Given the description of an element on the screen output the (x, y) to click on. 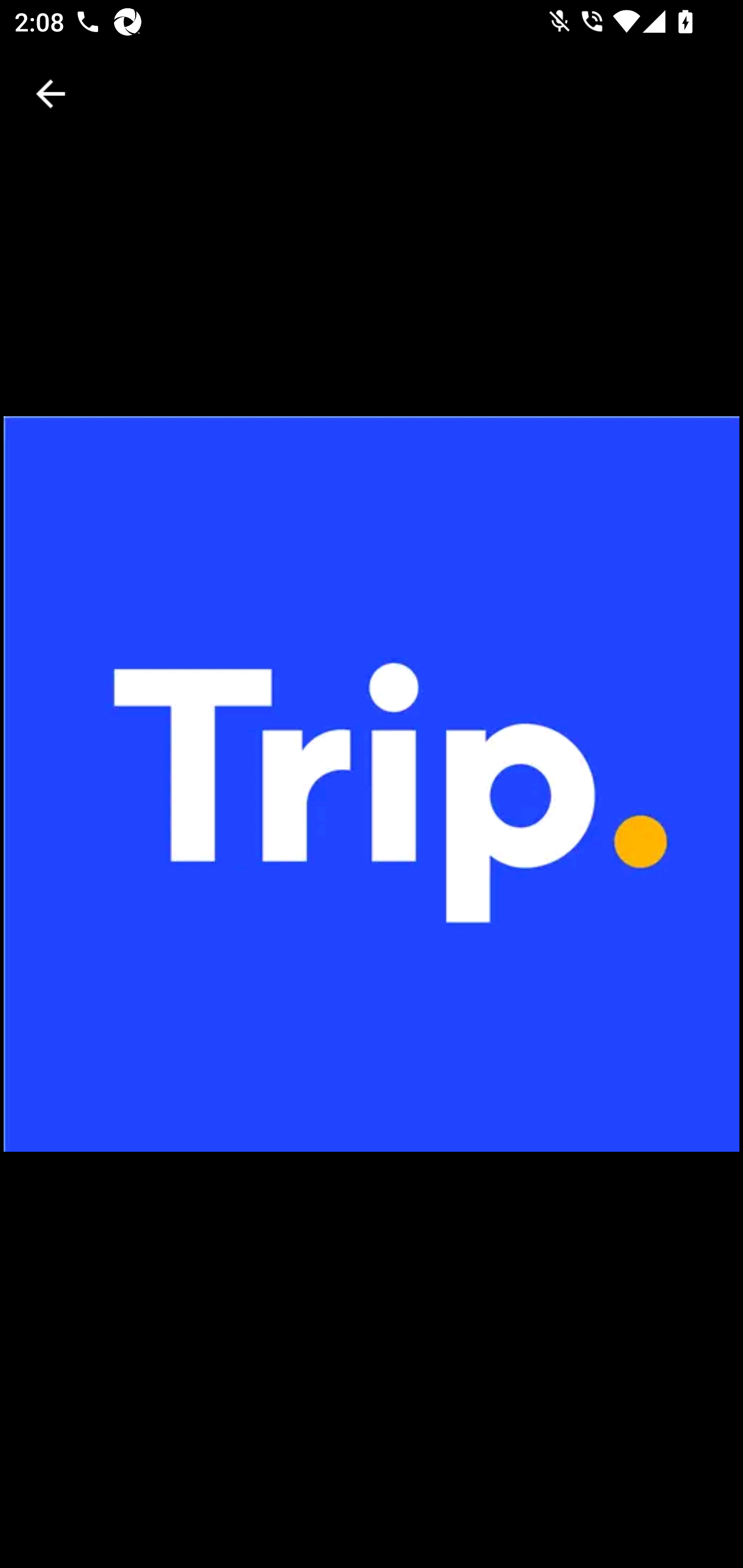
Back (50, 93)
